Given the description of an element on the screen output the (x, y) to click on. 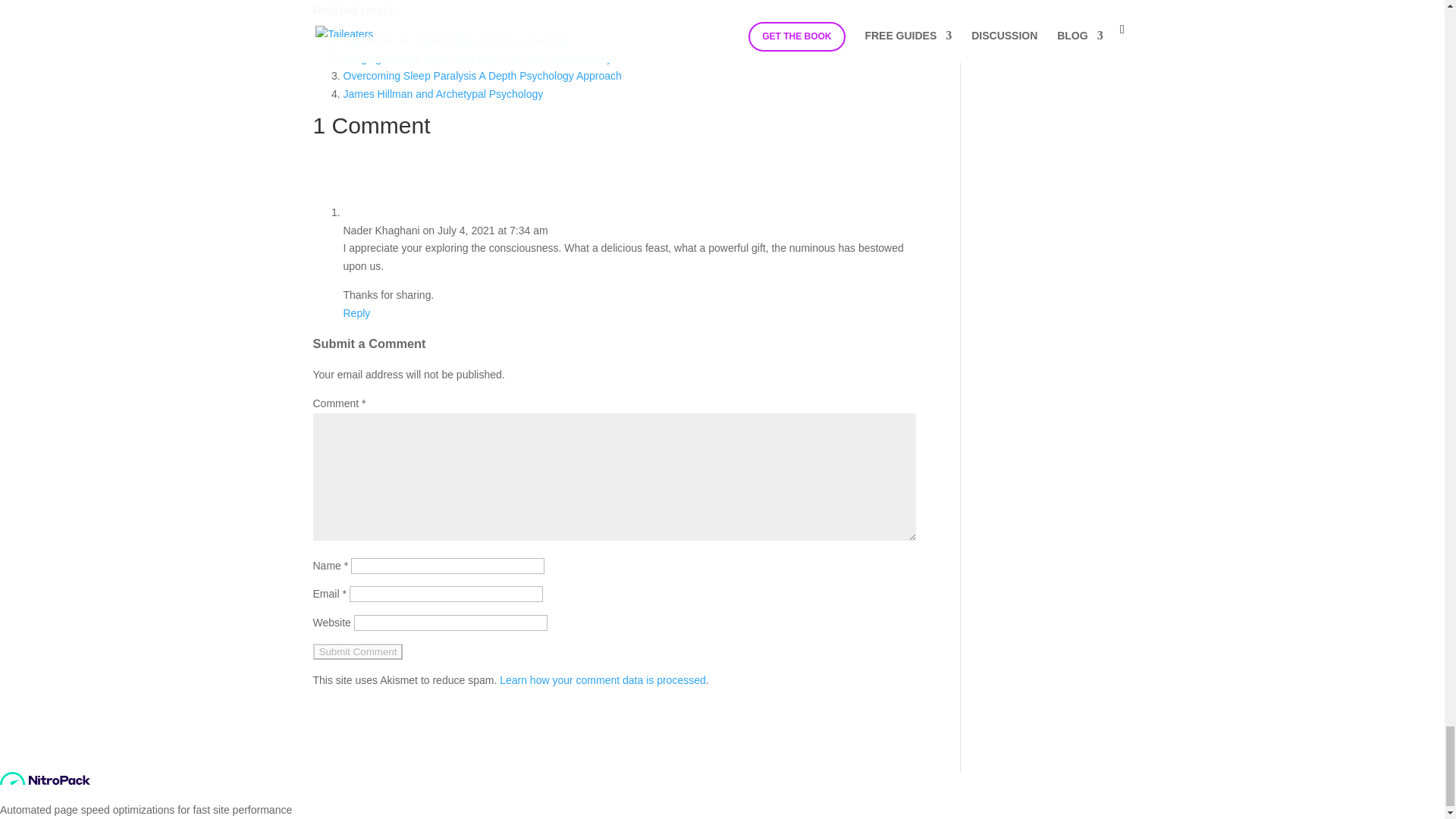
Overcoming Sleep Paralysis A Depth Psychology Approach (481, 75)
Learn how your comment data is processed (602, 680)
Submit Comment (358, 651)
In-Shadow: An In-Depth Psychological Analysis (453, 39)
Reply (355, 313)
James Hillman and Archetypal Psychology (442, 93)
Overcoming Sleep Paralysis A Depth Psychology Approach (481, 75)
James Hillman and Archetypal Psychology (442, 93)
Submit Comment (358, 651)
In-Shadow: An In-Depth Psychological Analysis (453, 39)
